Given the description of an element on the screen output the (x, y) to click on. 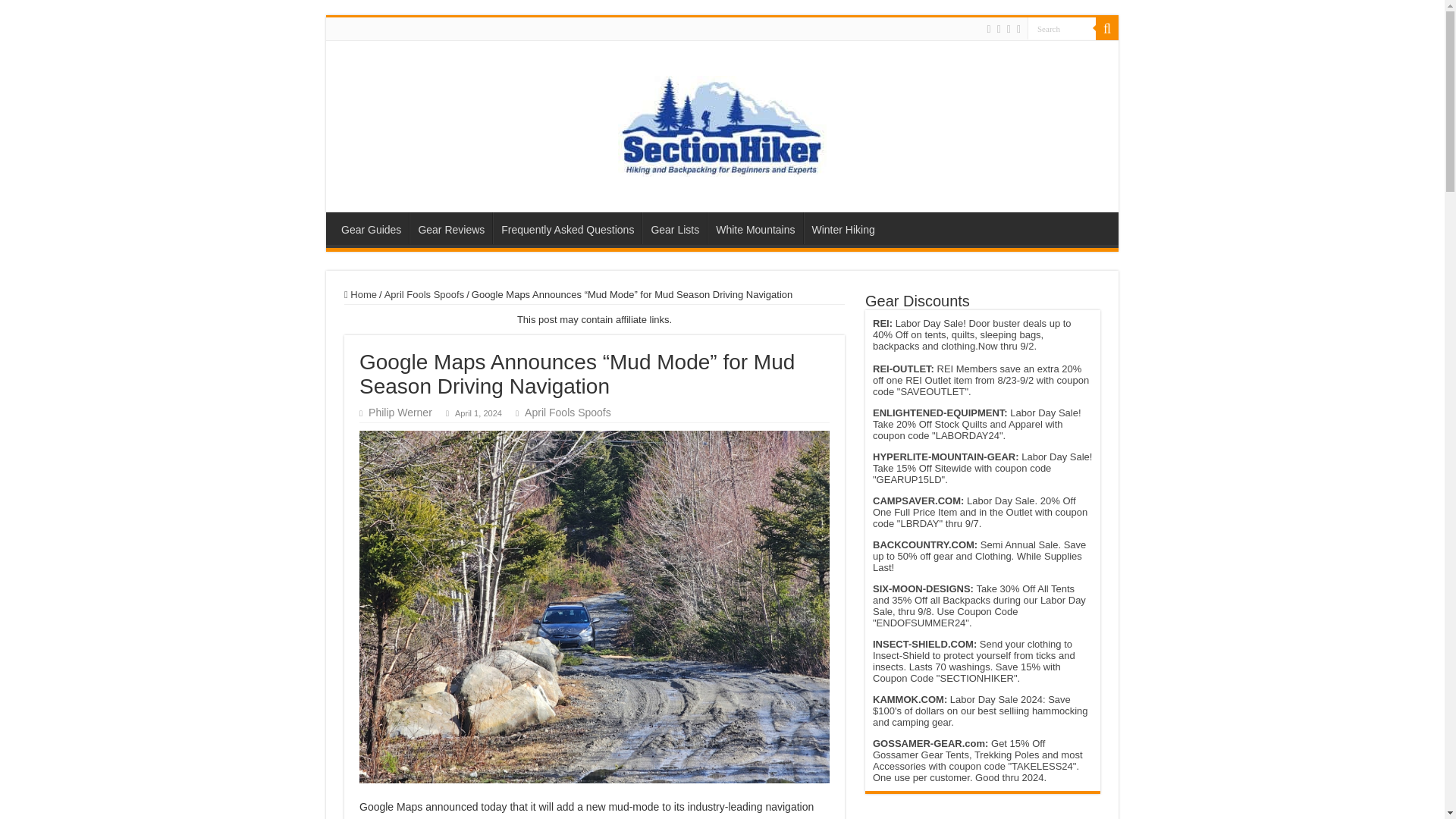
Gear Guides (371, 228)
Search (1107, 28)
Philip Werner (400, 412)
April Fools Spoofs (567, 412)
April Fools Spoofs (424, 294)
Gear Reviews (450, 228)
Search (1061, 28)
Winter Hiking (842, 228)
Frequently Asked Questions (567, 228)
Gear Lists (674, 228)
